Given the description of an element on the screen output the (x, y) to click on. 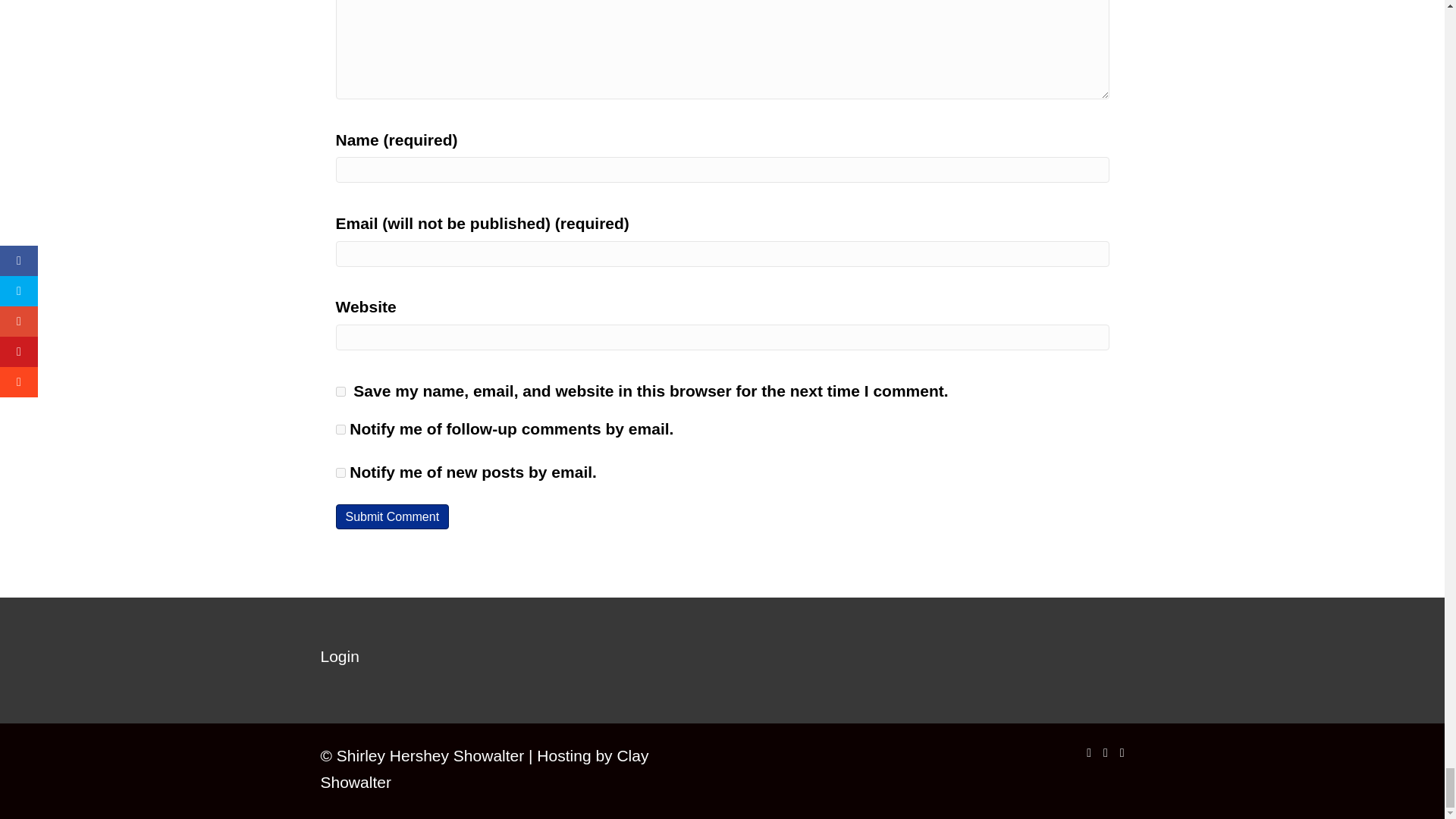
yes (339, 391)
subscribe (339, 472)
Submit Comment (391, 516)
subscribe (339, 429)
